Given the description of an element on the screen output the (x, y) to click on. 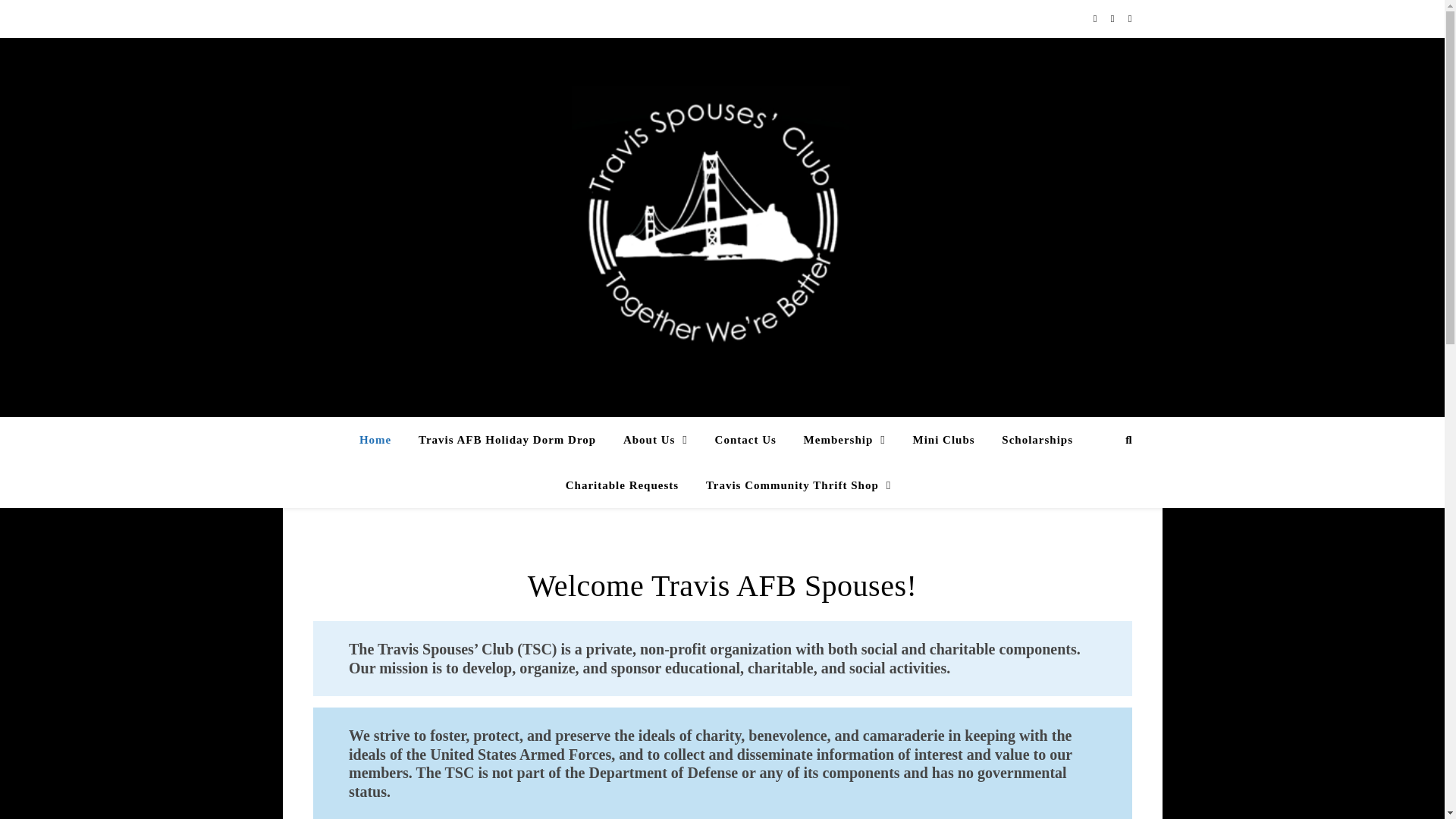
Charitable Requests (621, 484)
Mini Clubs (943, 439)
Travis Community Thrift Shop (792, 484)
Contact Us (746, 439)
Membership (845, 439)
About Us (655, 439)
Travis AFB Holiday Dorm Drop (507, 439)
Scholarships (1037, 439)
Home (381, 439)
